Given the description of an element on the screen output the (x, y) to click on. 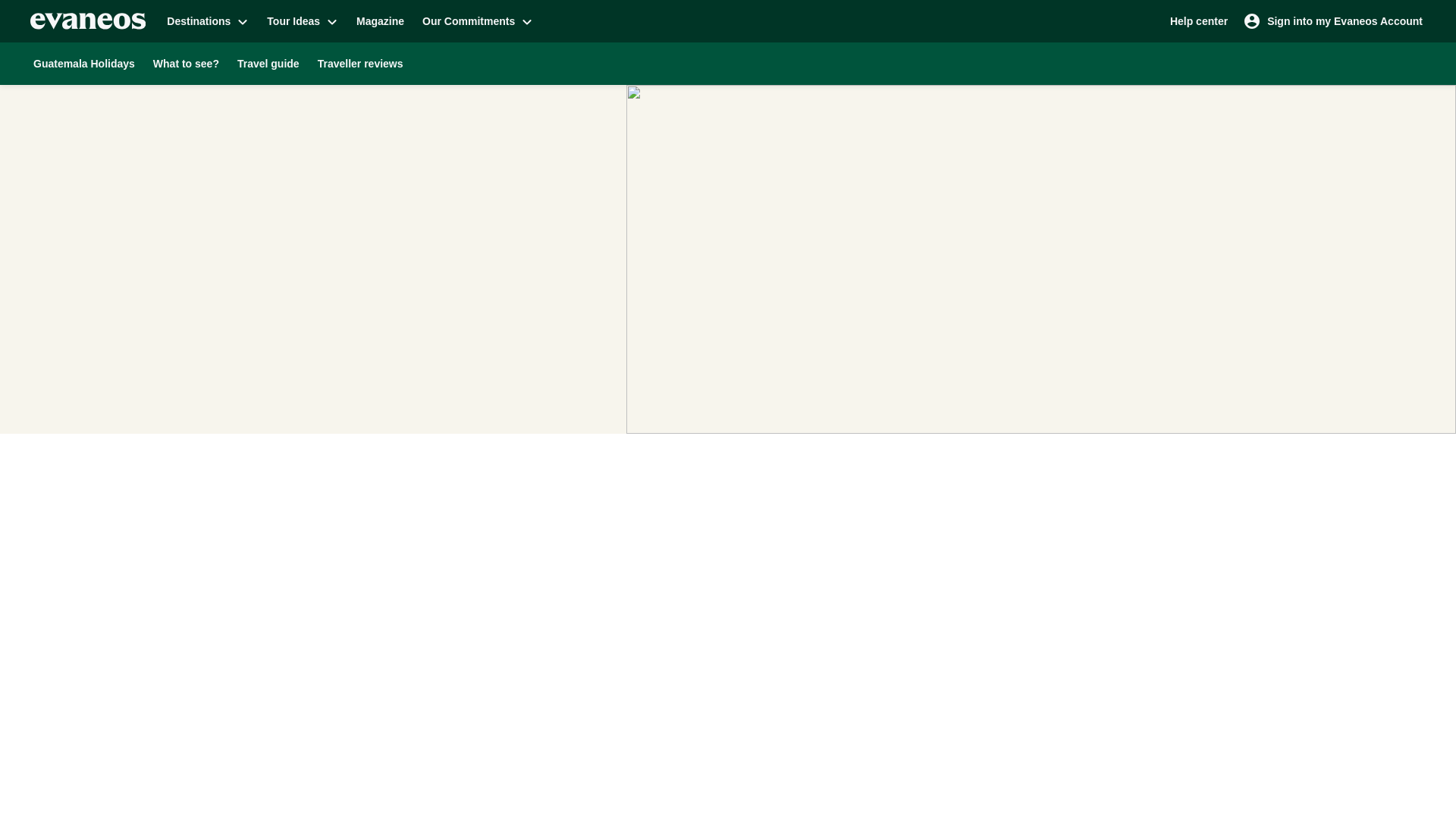
Traveller reviews (360, 63)
Destinations (207, 20)
Our Commitments (477, 20)
Evaneos (87, 21)
Travel guide (268, 63)
Sign into my Evaneos Account (1333, 20)
Magazine (380, 20)
Help center (1198, 20)
Guatemala Holidays (84, 63)
What to see? (186, 63)
Tour Ideas (302, 20)
Evaneos (87, 21)
